Given the description of an element on the screen output the (x, y) to click on. 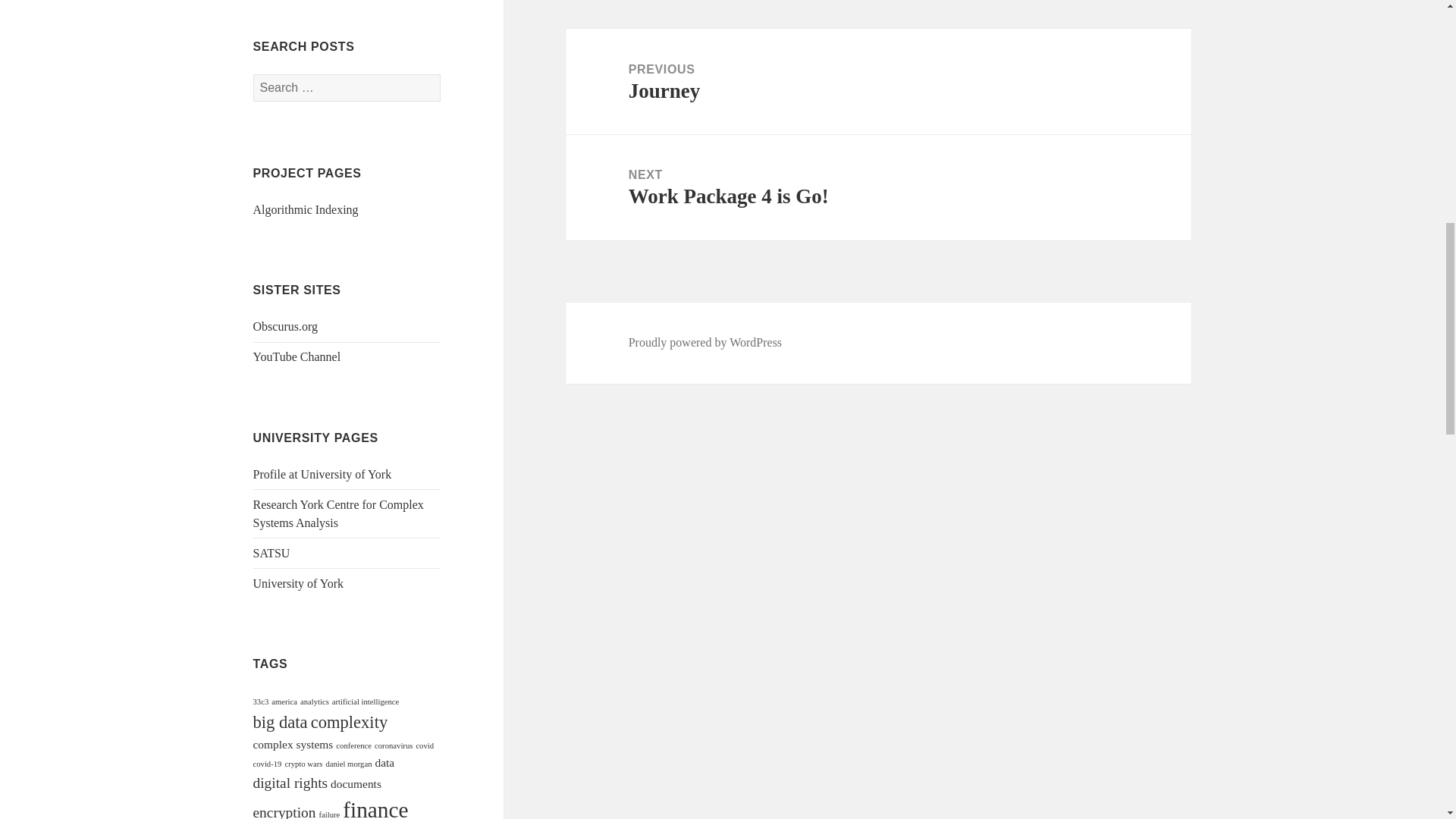
daniel morgan (347, 764)
digital rights (291, 782)
Science and Technology Studies Unit at University of York (271, 553)
University of York (298, 583)
big data (280, 722)
complex systems (293, 744)
crypto wars (302, 764)
finance (374, 808)
Profile at University of York (322, 473)
artificial intelligence (364, 701)
coronavirus (393, 746)
failure (328, 814)
